Given the description of an element on the screen output the (x, y) to click on. 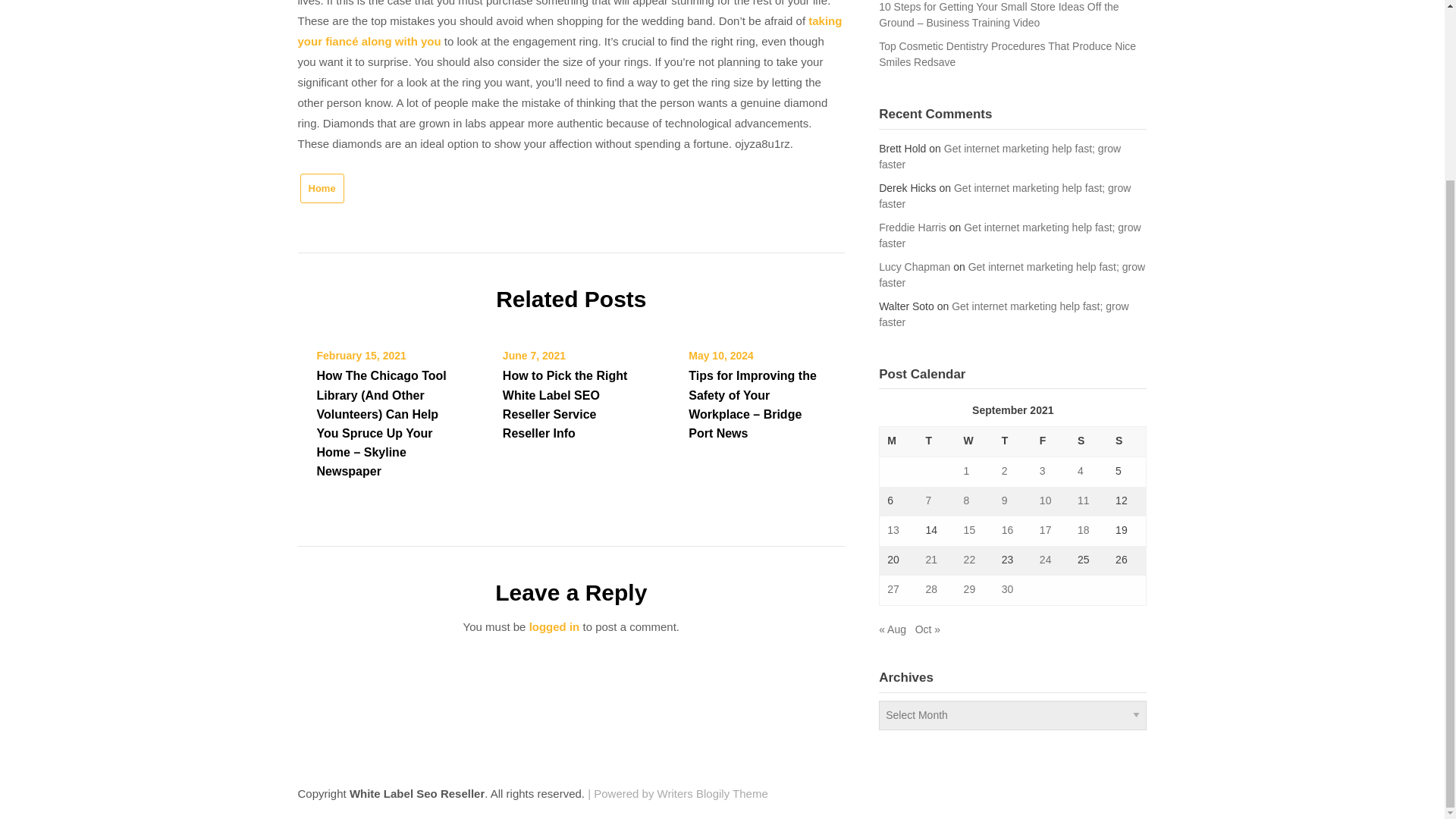
Freddie Harris (912, 227)
Lucy Chapman (914, 266)
Home (321, 188)
Wednesday (975, 441)
Saturday (1089, 441)
15 (969, 530)
18 (1083, 530)
11 (1083, 500)
logged in (554, 626)
Monday (898, 441)
8 (966, 500)
Tuesday (936, 441)
Sunday (1127, 441)
21 (930, 559)
13 (892, 530)
